Given the description of an element on the screen output the (x, y) to click on. 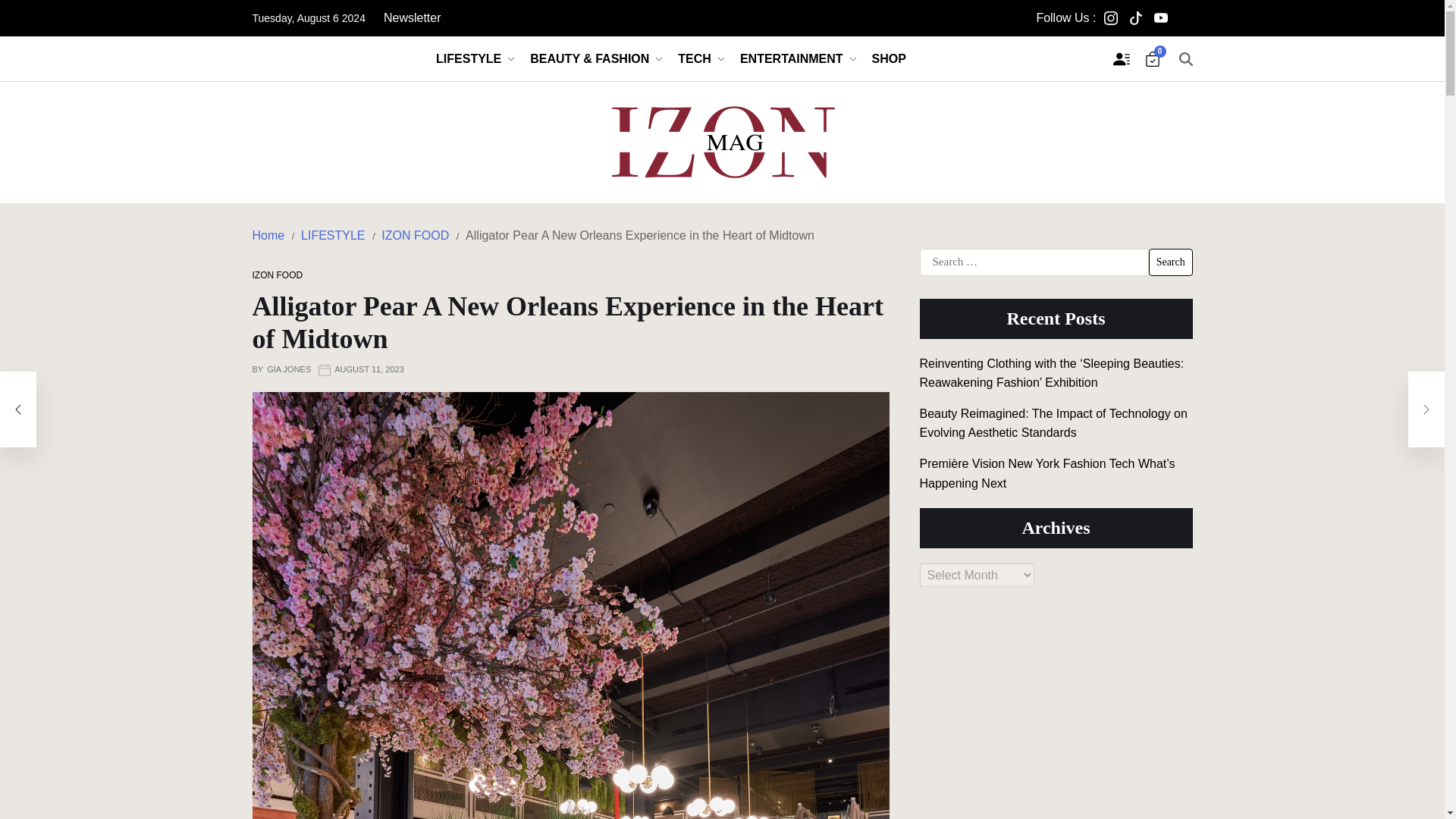
Home (267, 235)
Newsletter (412, 17)
ENTERTAINMENT (798, 58)
0 (1152, 58)
GIA JONES (288, 369)
LIFESTYLE (333, 235)
Search (1170, 262)
Search (1170, 262)
LIFESTYLE (475, 58)
IZON FOOD (414, 235)
